Given the description of an element on the screen output the (x, y) to click on. 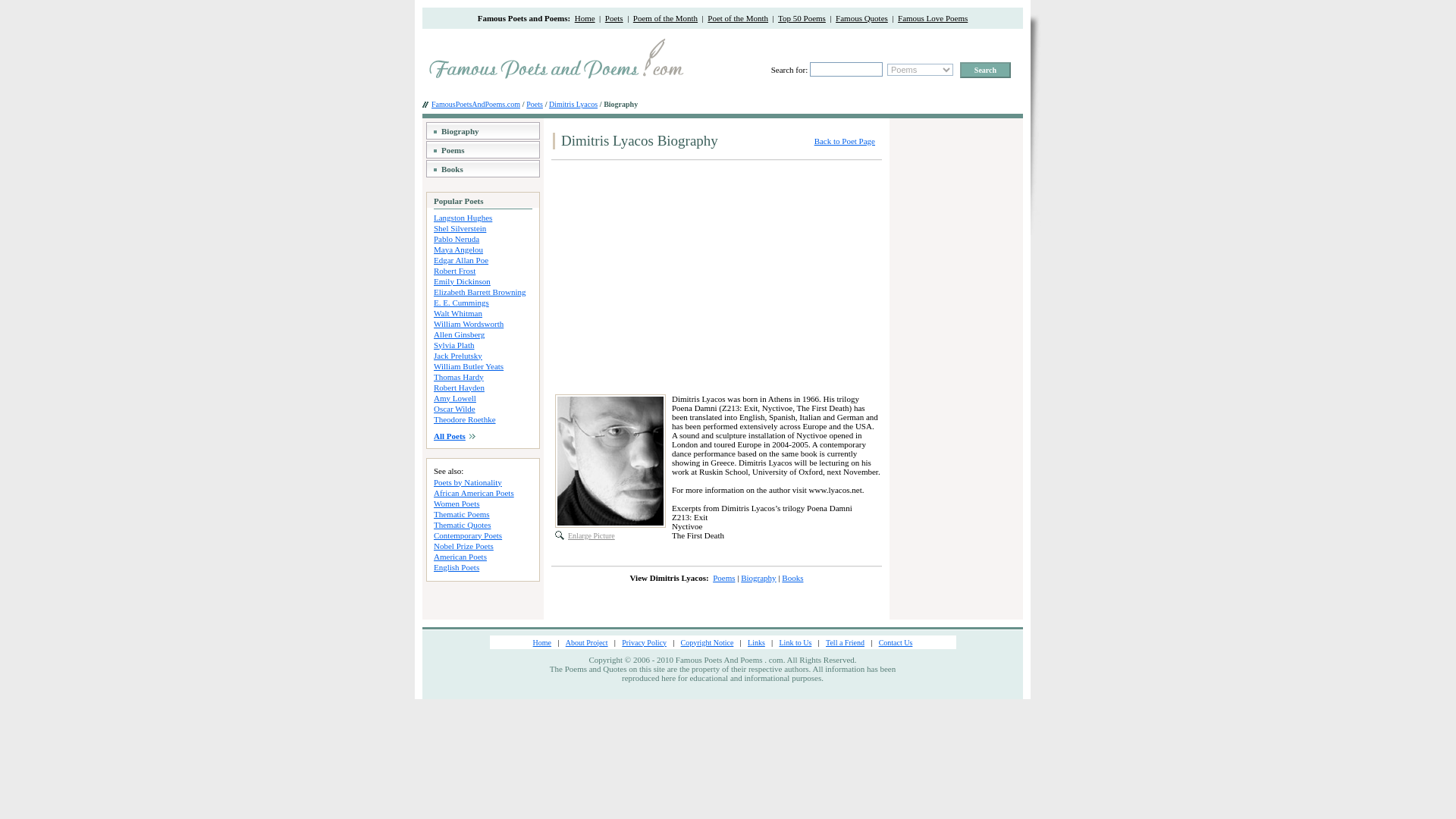
Poet of the Month (737, 17)
Sylvia Plath (453, 343)
E. E. Cummings (461, 301)
Maya Angelou (458, 248)
Poem of the Month (665, 17)
Pablo Neruda (456, 237)
African American Poets (473, 492)
William Butler Yeats (468, 365)
Emily Dickinson (461, 280)
Biography (460, 130)
